Given the description of an element on the screen output the (x, y) to click on. 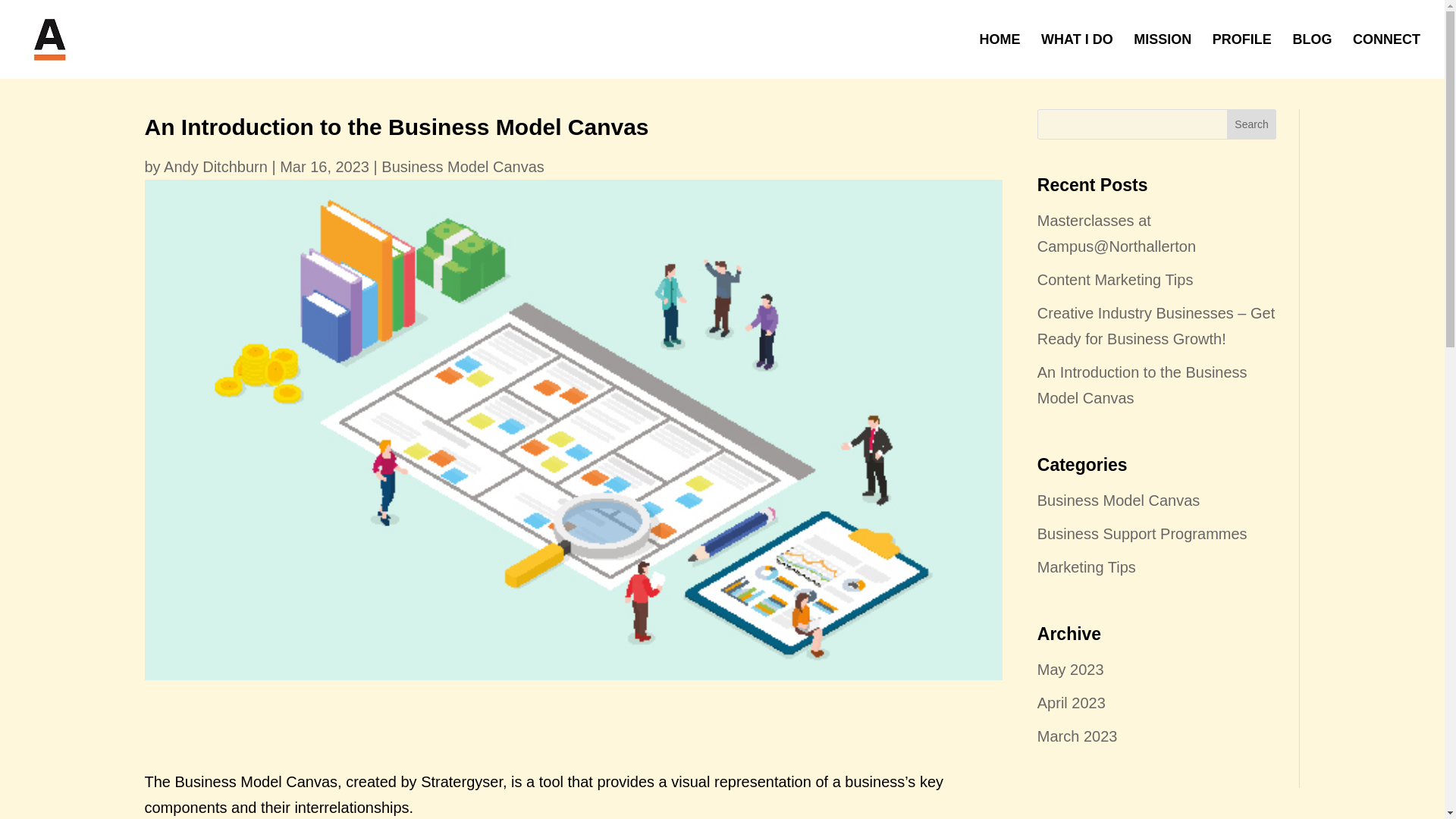
March 2023 (1077, 736)
April 2023 (1070, 702)
Content Marketing Tips (1114, 279)
An Introduction to the Business Model Canvas (1141, 384)
HOME (999, 56)
Business Model Canvas (1117, 500)
Andy Ditchburn (215, 166)
MISSION (1162, 56)
May 2023 (1069, 669)
Business Support Programmes (1141, 533)
